Given the description of an element on the screen output the (x, y) to click on. 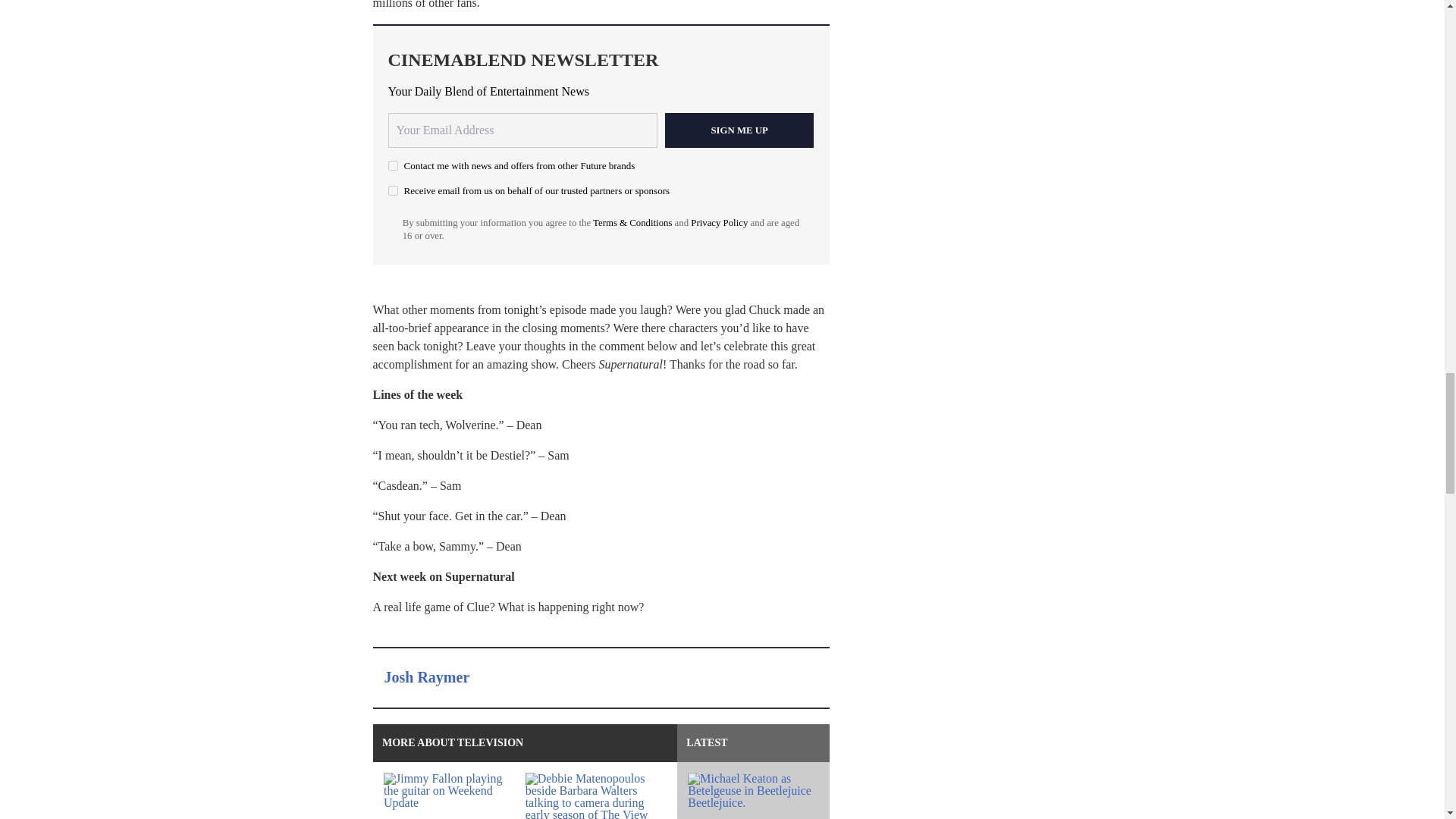
on (392, 190)
on (392, 165)
Sign me up (739, 130)
